Given the description of an element on the screen output the (x, y) to click on. 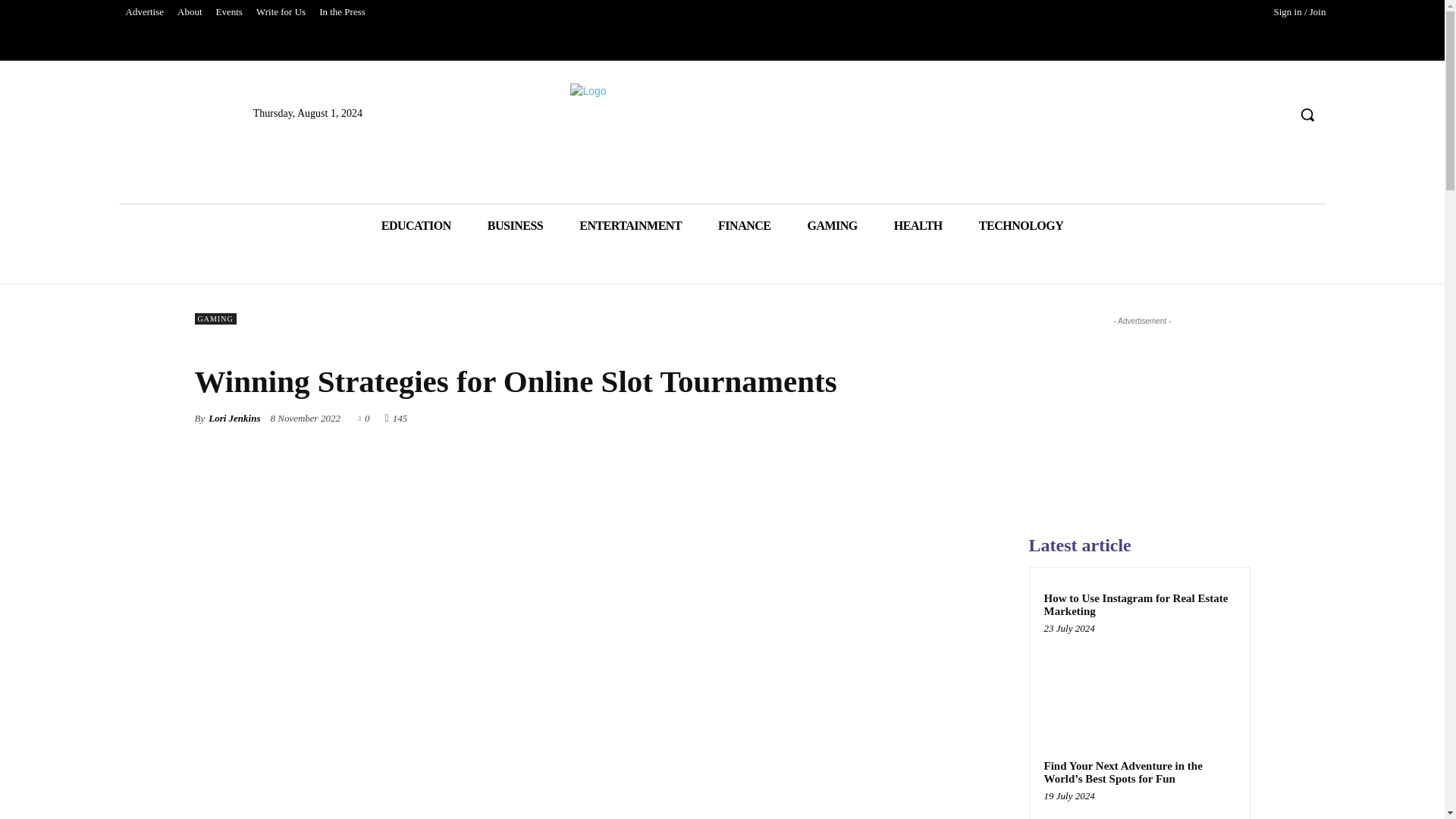
In the Press (342, 12)
FINANCE (744, 225)
EDUCATION (415, 225)
Advertise (143, 12)
GAMING (832, 225)
Events (228, 12)
About (189, 12)
TECHNOLOGY (1020, 225)
HEALTH (918, 225)
ENTERTAINMENT (630, 225)
BUSINESS (514, 225)
Write for Us (280, 12)
